Given the description of an element on the screen output the (x, y) to click on. 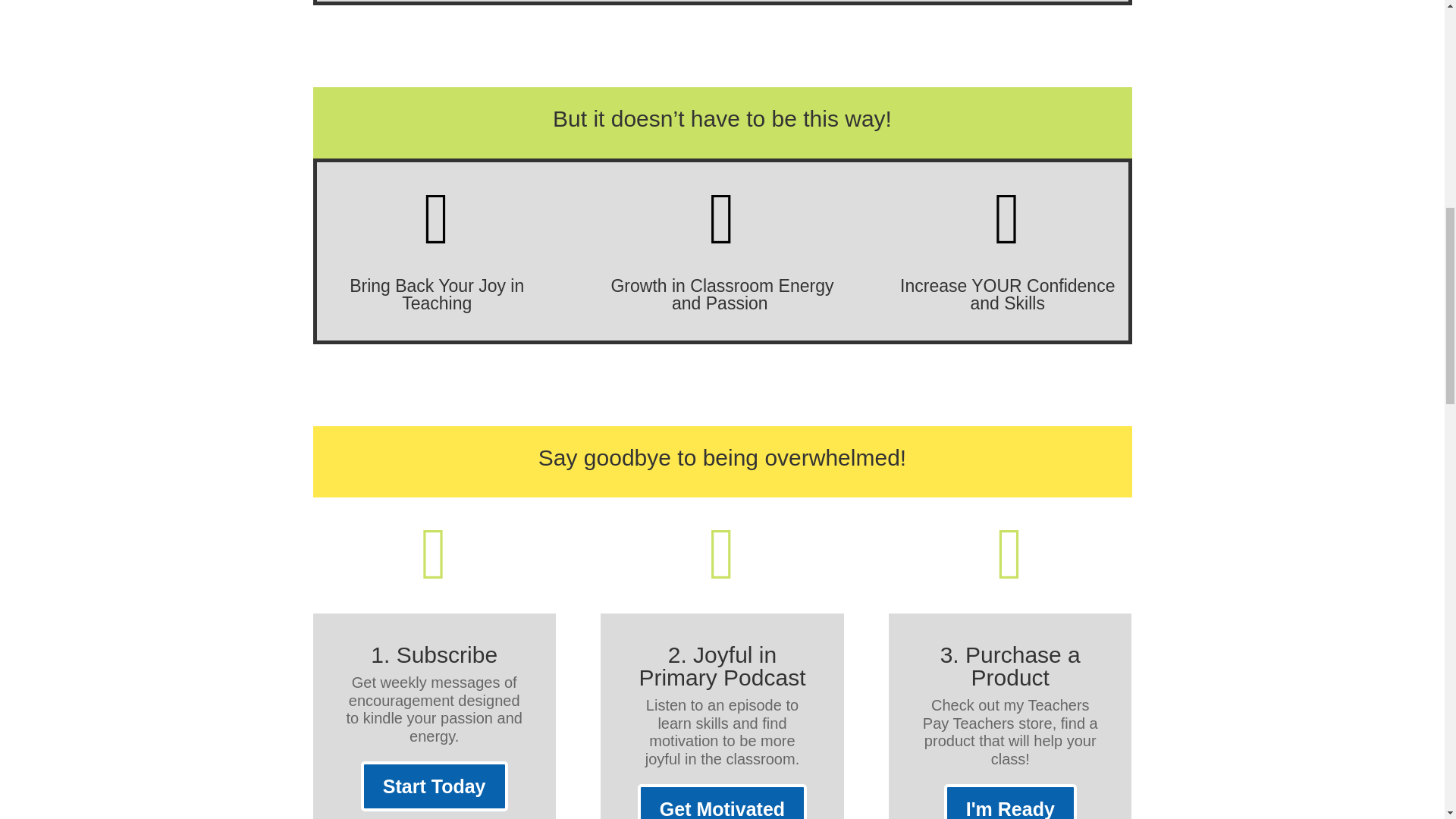
Start Today (434, 786)
I'm Ready (1010, 801)
Get Motivated (721, 801)
